Given the description of an element on the screen output the (x, y) to click on. 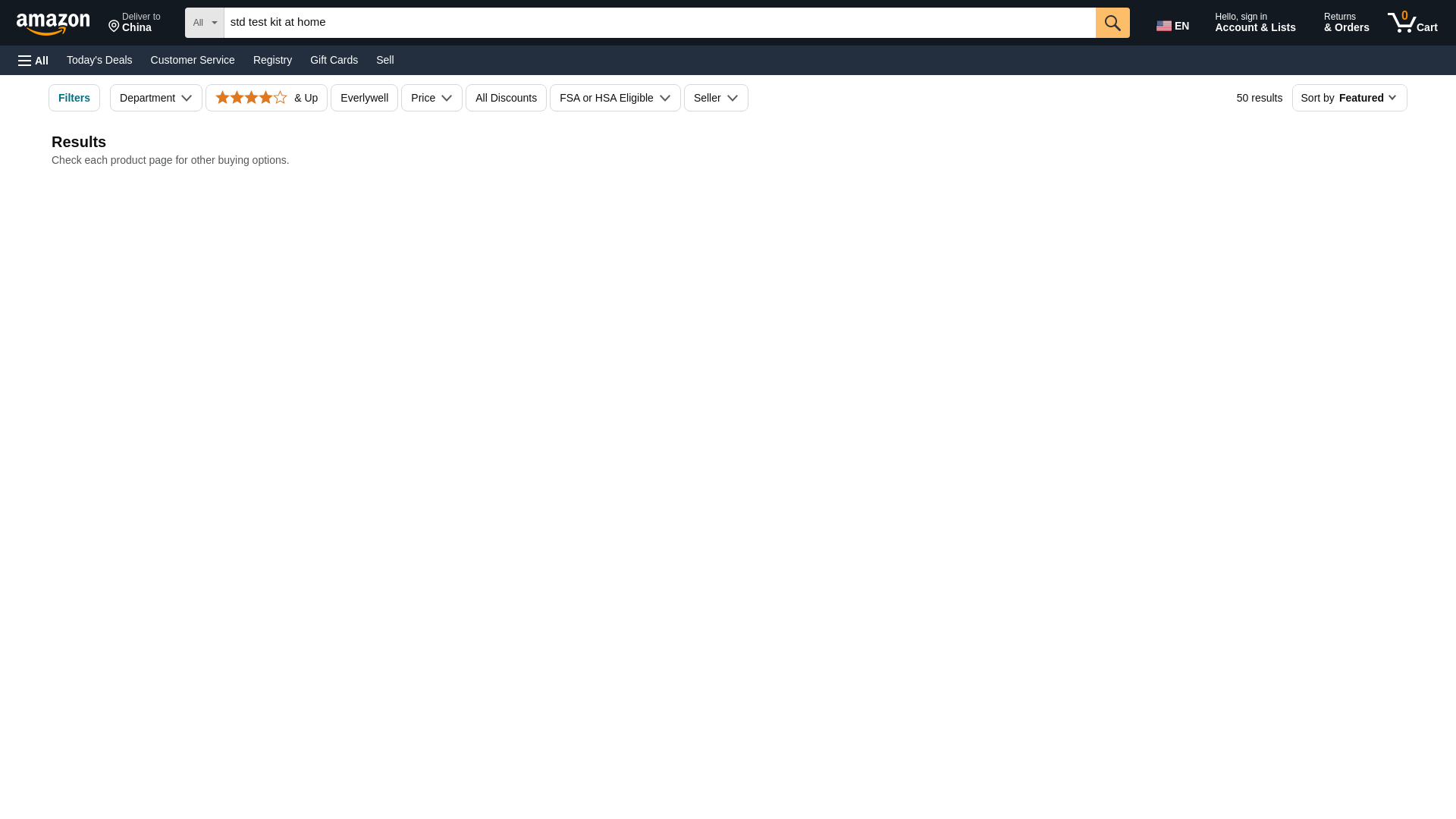
Registry (272, 59)
Sell (384, 59)
All Discounts (506, 97)
All (33, 60)
EN (1175, 22)
Customer Service (1412, 22)
Gift Cards (192, 59)
Everlywell (333, 59)
Filters (363, 97)
